Given the description of an element on the screen output the (x, y) to click on. 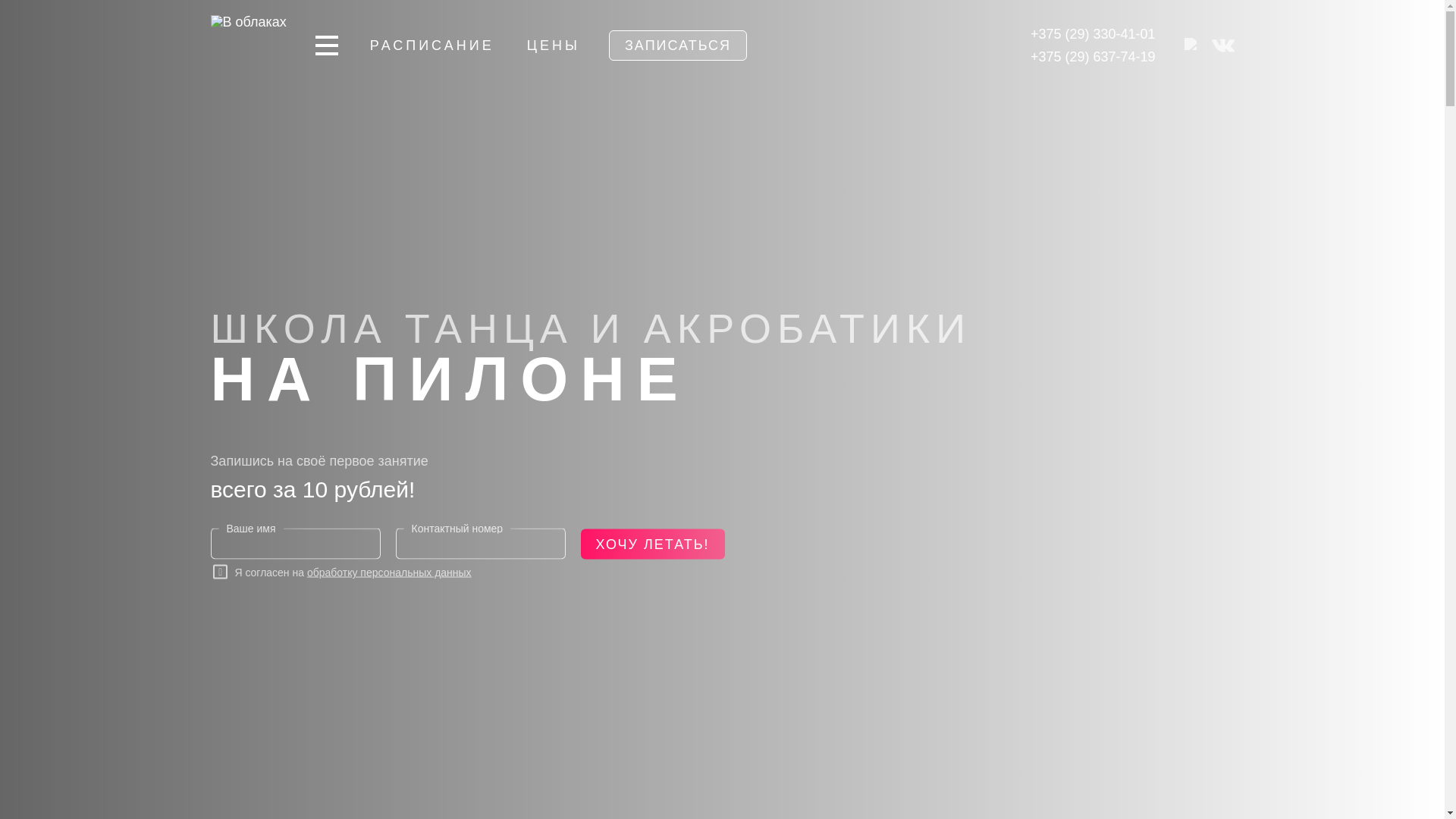
+375 (29) 330-41-01 Element type: text (1092, 33)
+375 (29) 637-74-19 Element type: text (1092, 56)
